Given the description of an element on the screen output the (x, y) to click on. 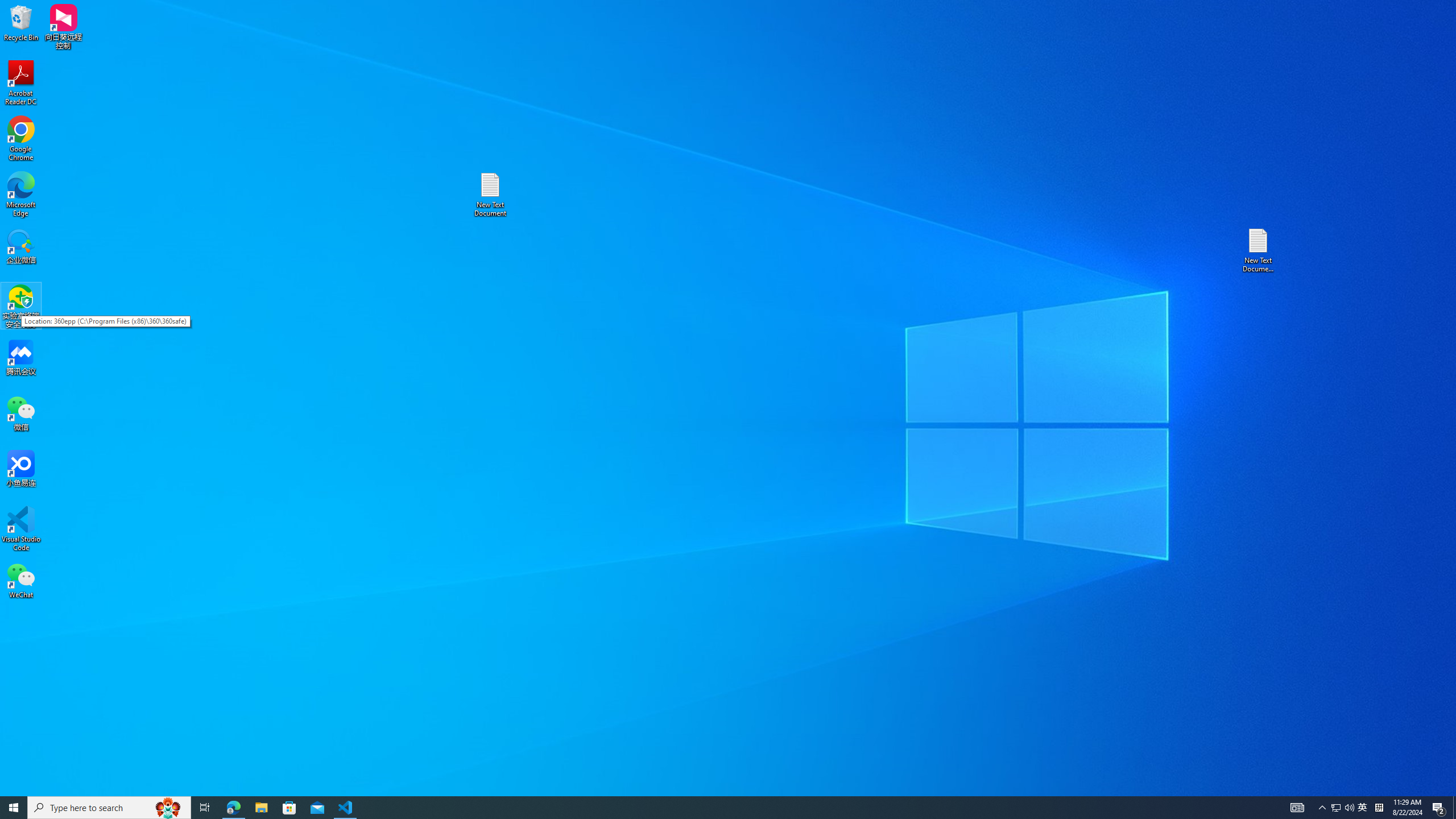
Tray Input Indicator - Chinese (Simplified, China) (1378, 807)
Task View (204, 807)
Start (13, 807)
Type here to search (1362, 807)
Running applications (108, 807)
Microsoft Edge - 1 running window (707, 807)
Visual Studio Code (233, 807)
Action Center, 2 new notifications (21, 528)
Google Chrome (1439, 807)
Q2790: 100% (21, 138)
Show desktop (1349, 807)
